Given the description of an element on the screen output the (x, y) to click on. 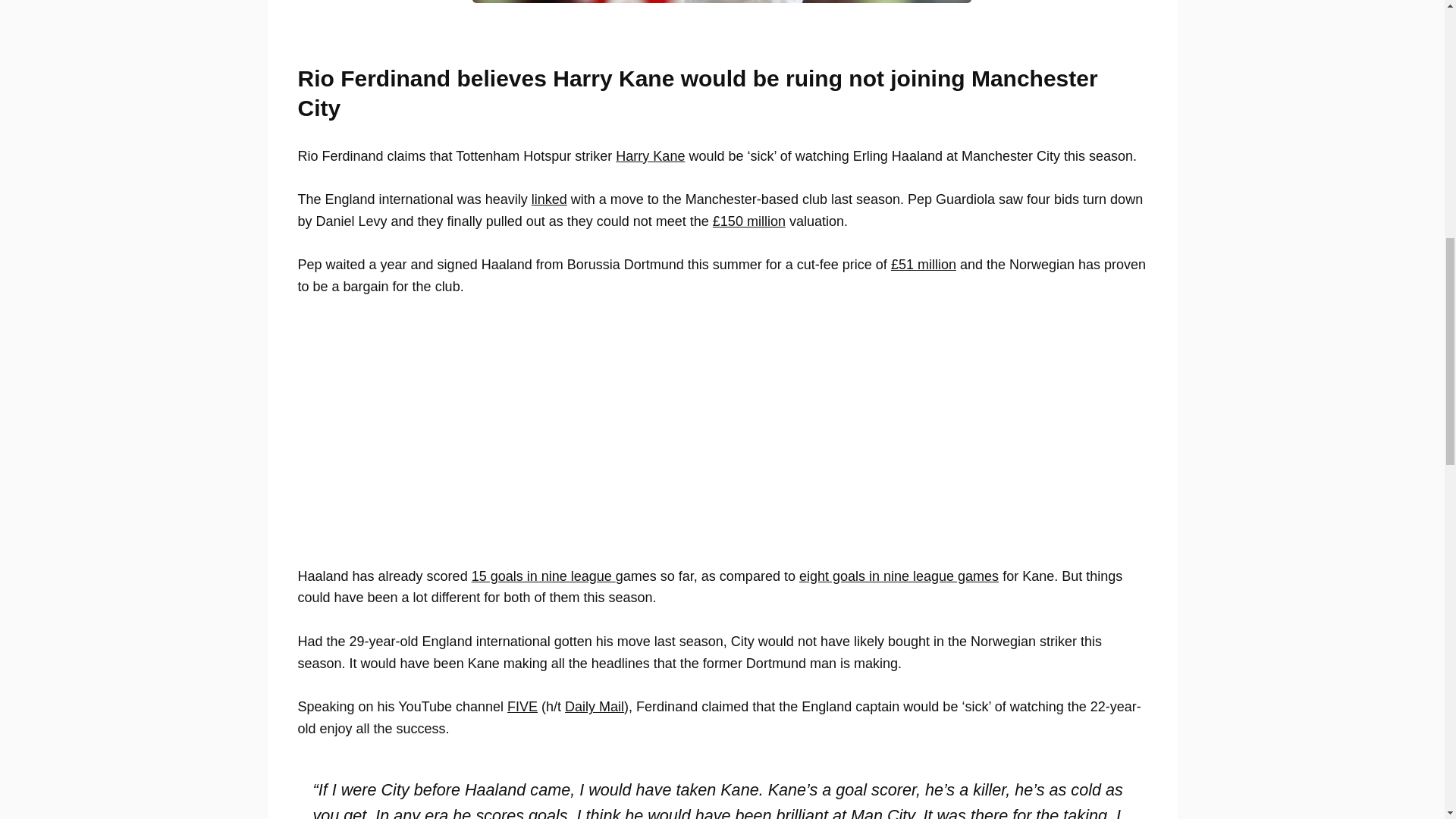
linked (549, 199)
YouTube video player (509, 439)
Harry Kane (649, 155)
